Given the description of an element on the screen output the (x, y) to click on. 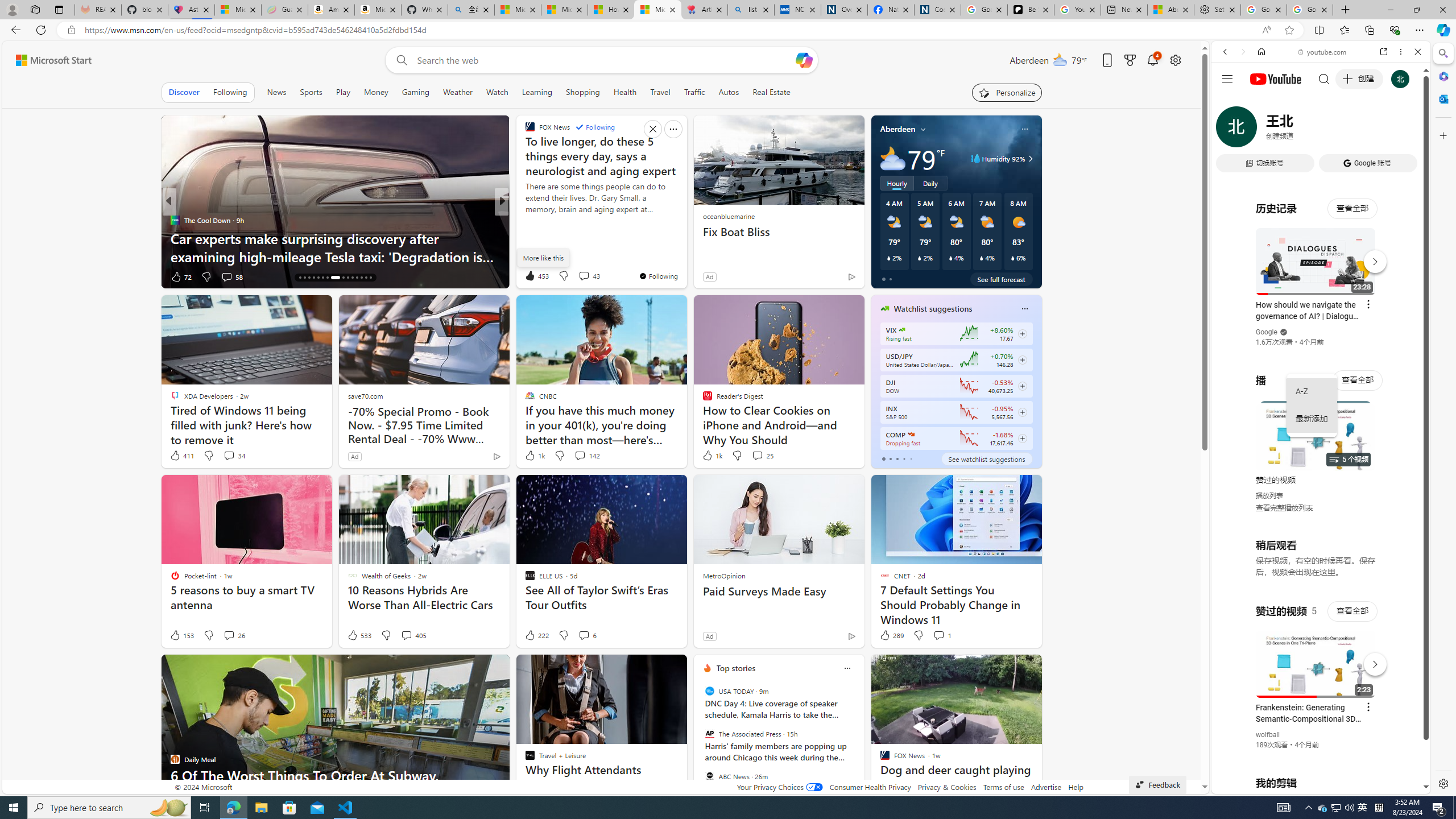
182 Like (532, 276)
222 Like (536, 634)
ABC News (709, 775)
previous (699, 741)
View comments 26 Comment (233, 634)
6 Like (529, 276)
Watchlist suggestions (932, 308)
Class: weather-arrow-glyph (1029, 158)
